Given the description of an element on the screen output the (x, y) to click on. 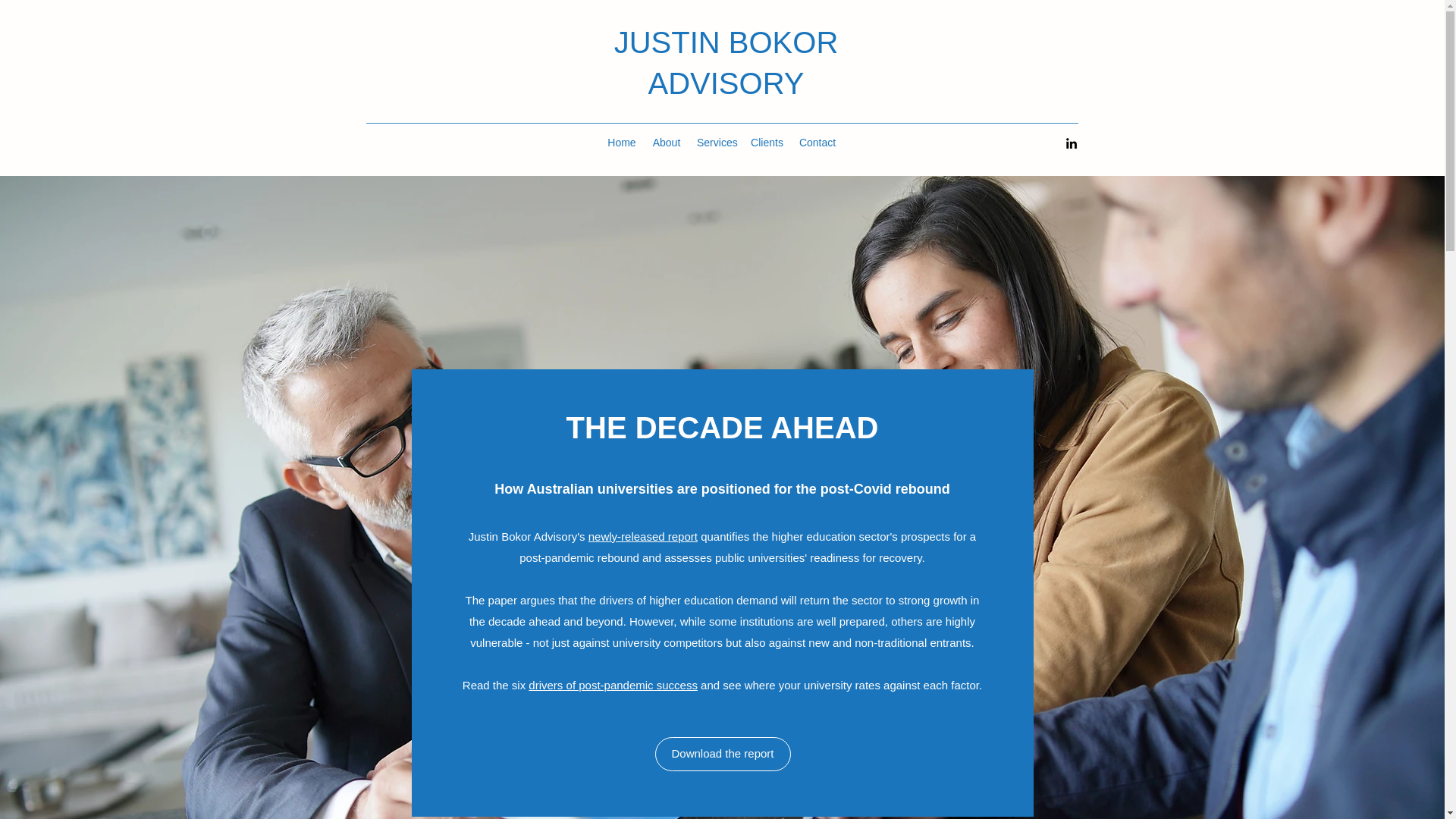
Download the report (722, 754)
JUSTIN BOKOR ADVISORY (726, 62)
About (665, 142)
drivers of post-pandemic success (612, 684)
newly-released report (642, 535)
Home (621, 142)
Clients (766, 142)
Services (715, 142)
Contact (817, 142)
